Given the description of an element on the screen output the (x, y) to click on. 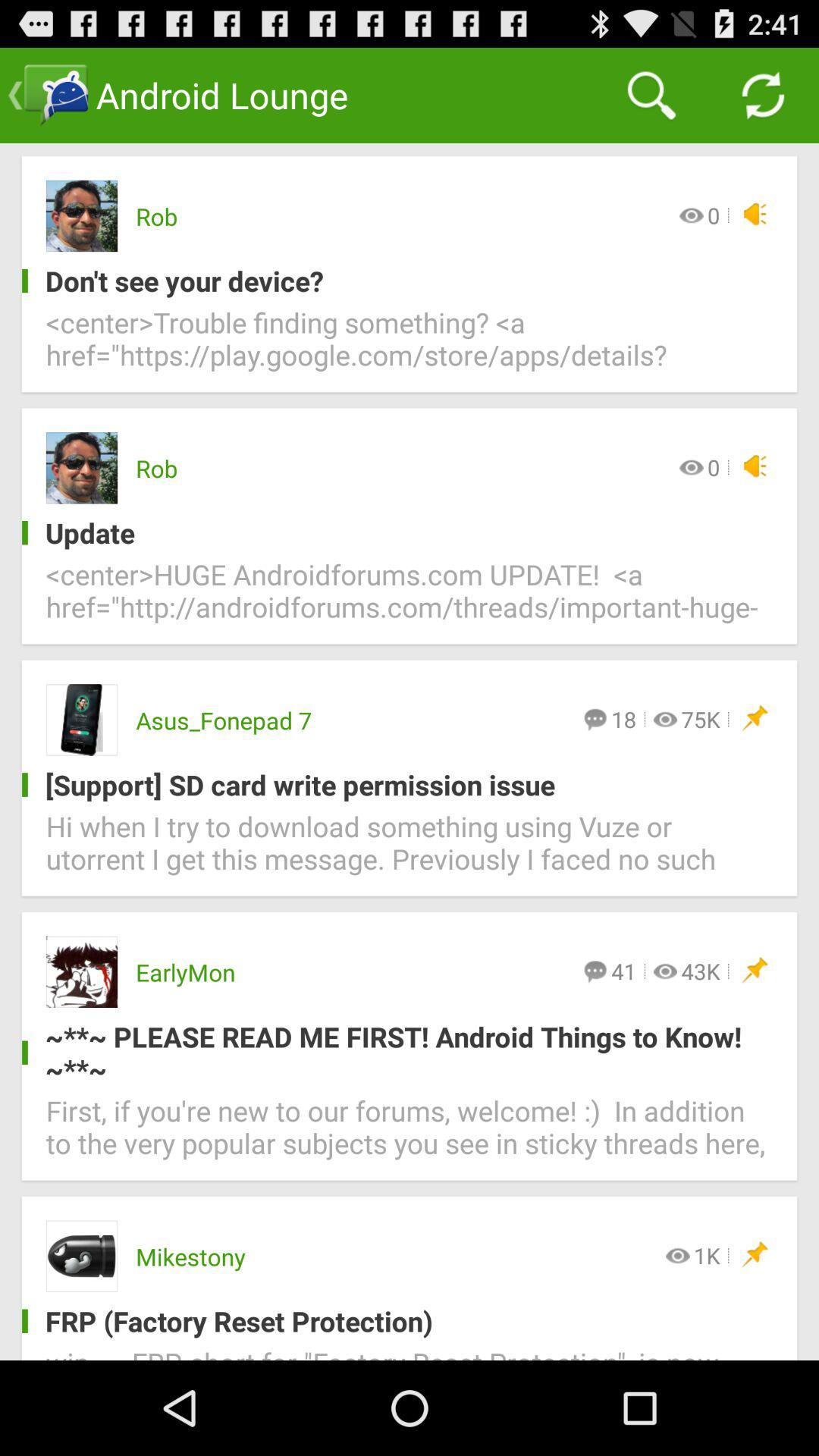
select first if you item (409, 1136)
